Given the description of an element on the screen output the (x, y) to click on. 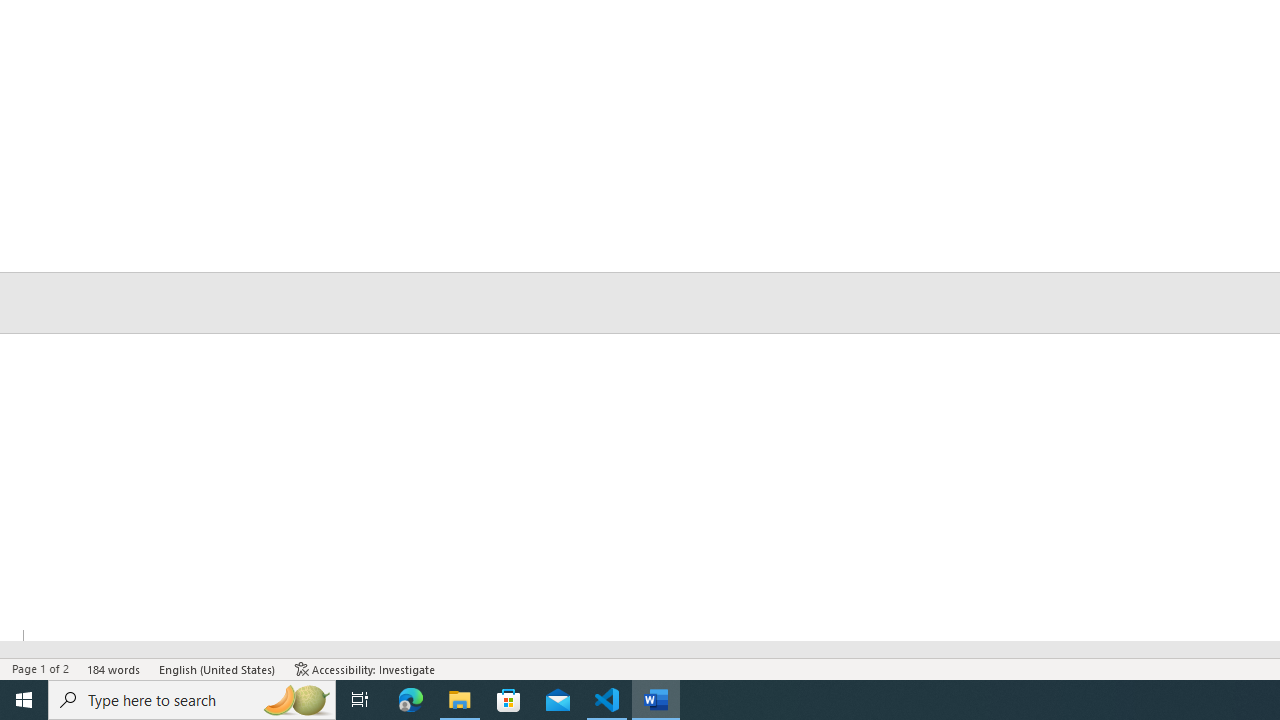
Start (24, 699)
Search highlights icon opens search home window (295, 699)
Accessibility Checker Accessibility: Investigate (365, 668)
Page Number Page 1 of 2 (39, 668)
Task View (359, 699)
Microsoft Store (509, 699)
Word - 1 running window (656, 699)
Type here to search (191, 699)
Visual Studio Code - 1 running window (607, 699)
Language English (United States) (218, 668)
File Explorer - 1 running window (460, 699)
Microsoft Edge (411, 699)
